Given the description of an element on the screen output the (x, y) to click on. 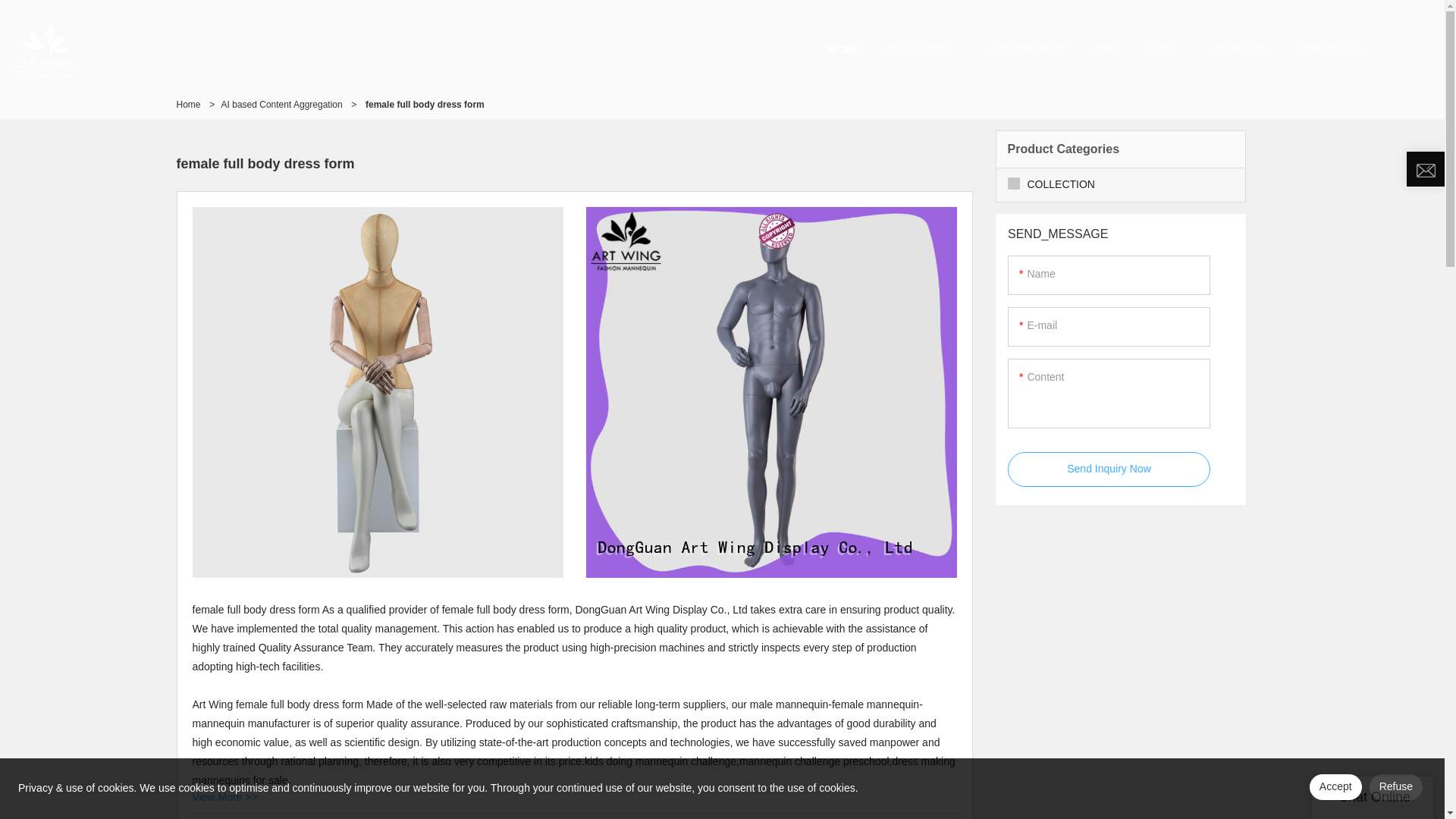
COLLECTION (922, 49)
Home (188, 104)
CONTACT US (1334, 49)
AI based Content Aggregation (281, 104)
NEWS (1165, 49)
ABOUT US (1243, 49)
CUSTOM MADE (1025, 49)
